Given the description of an element on the screen output the (x, y) to click on. 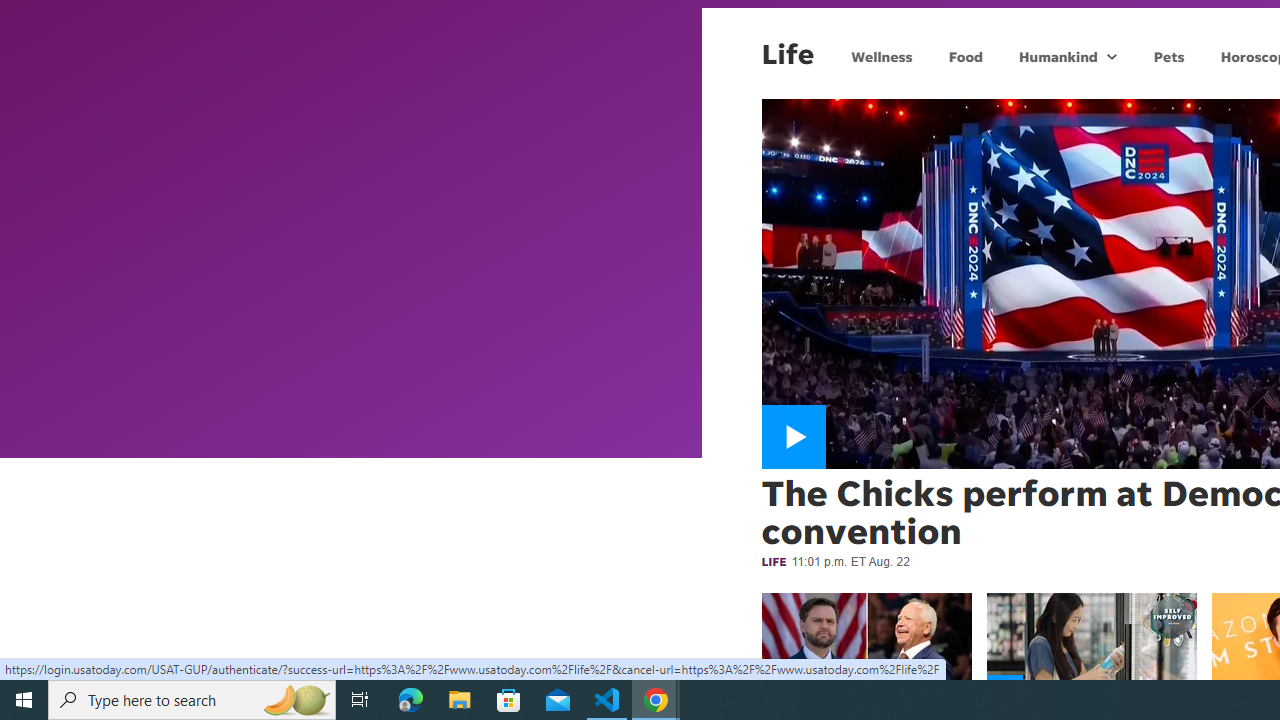
Humankind (1055, 56)
Wellness (881, 56)
Food (965, 56)
More Humankind navigation (1111, 56)
Pets (1168, 56)
